Given the description of an element on the screen output the (x, y) to click on. 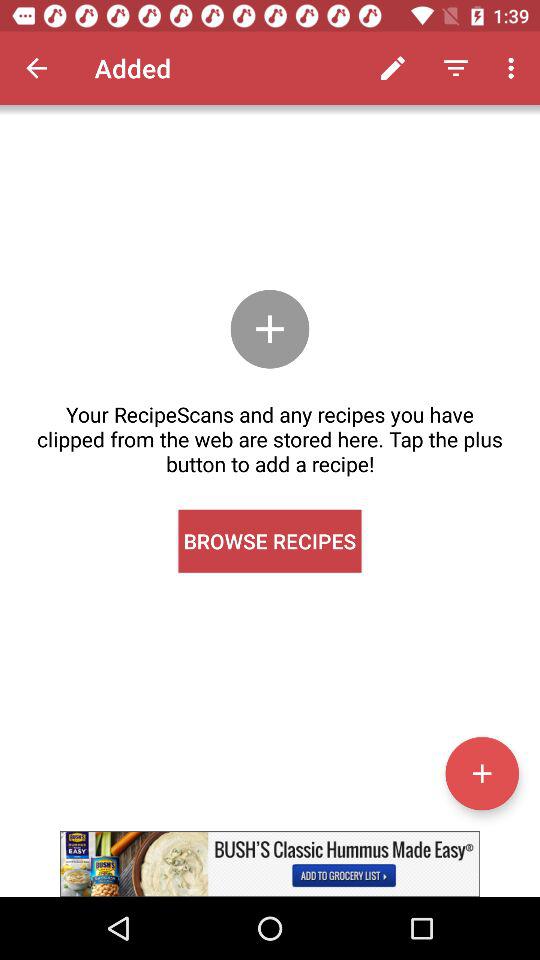
add new (482, 773)
